Given the description of an element on the screen output the (x, y) to click on. 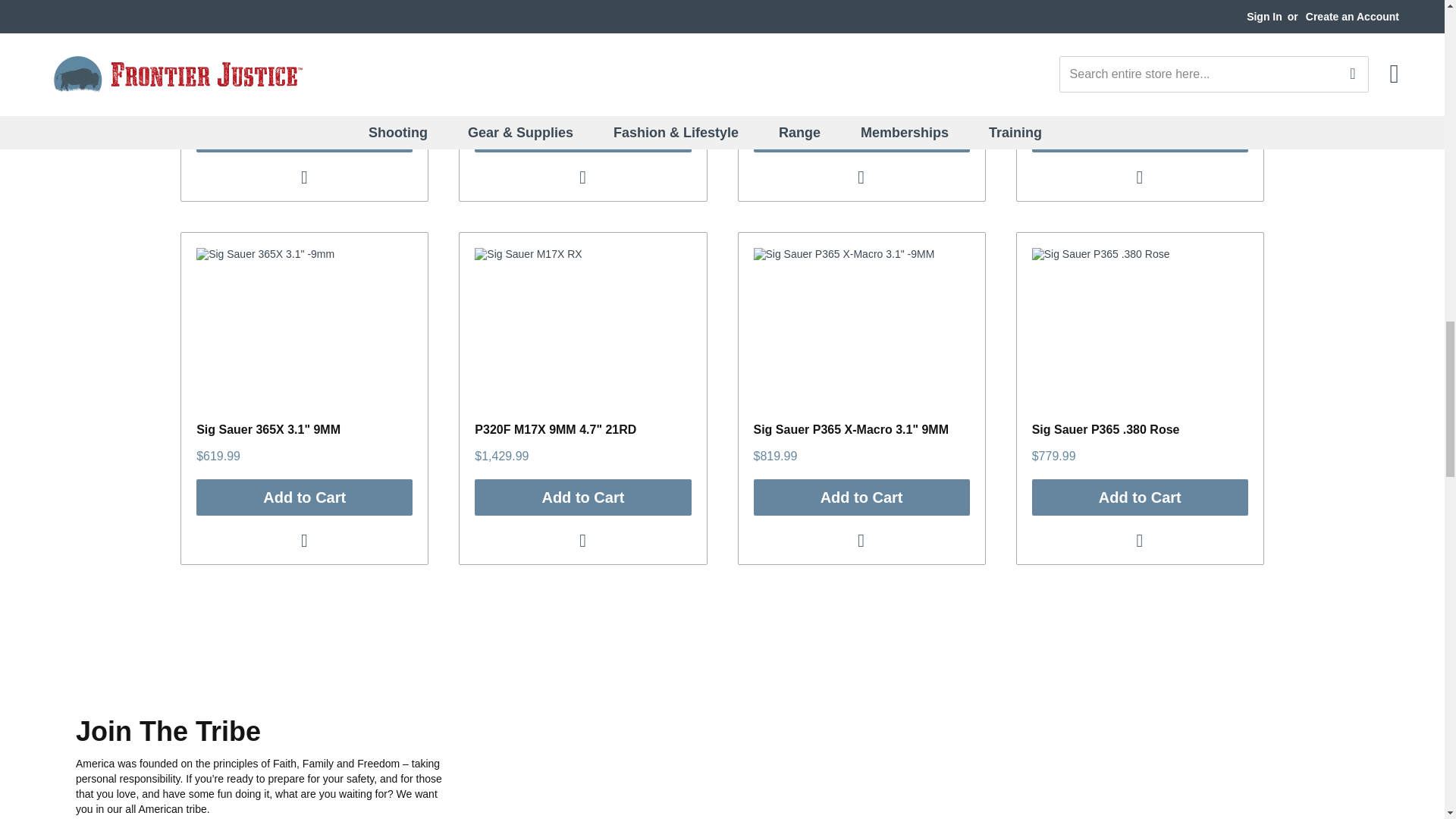
Sig Sauer P365-XL Comp Rose (285, 65)
Sig Sauer P365-XL Comp Rose (563, 65)
Add to Cart (582, 134)
Add to Cart (304, 134)
Add to Wishlist (304, 177)
